Given the description of an element on the screen output the (x, y) to click on. 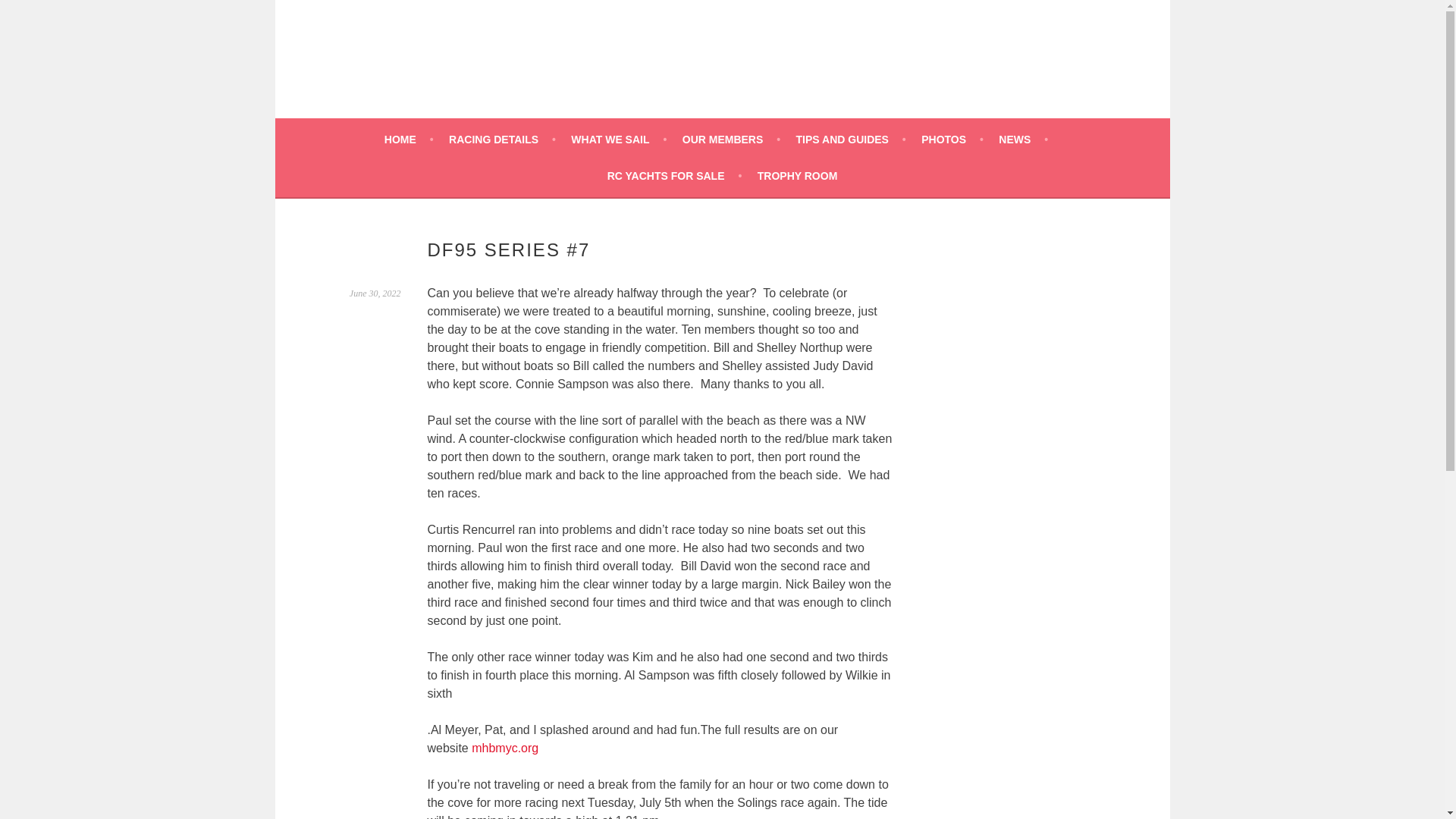
Mount Hope Bay Model Yacht Club (601, 71)
OUR MEMBERS (731, 139)
NEWS (1023, 139)
RACING DETAILS (502, 139)
mhbmyc.org (504, 748)
TROPHY ROOM (797, 176)
PHOTOS (952, 139)
WHAT WE SAIL (618, 139)
HOME (408, 139)
MOUNT HOPE BAY MODEL YACHT CLUB (601, 71)
